Given the description of an element on the screen output the (x, y) to click on. 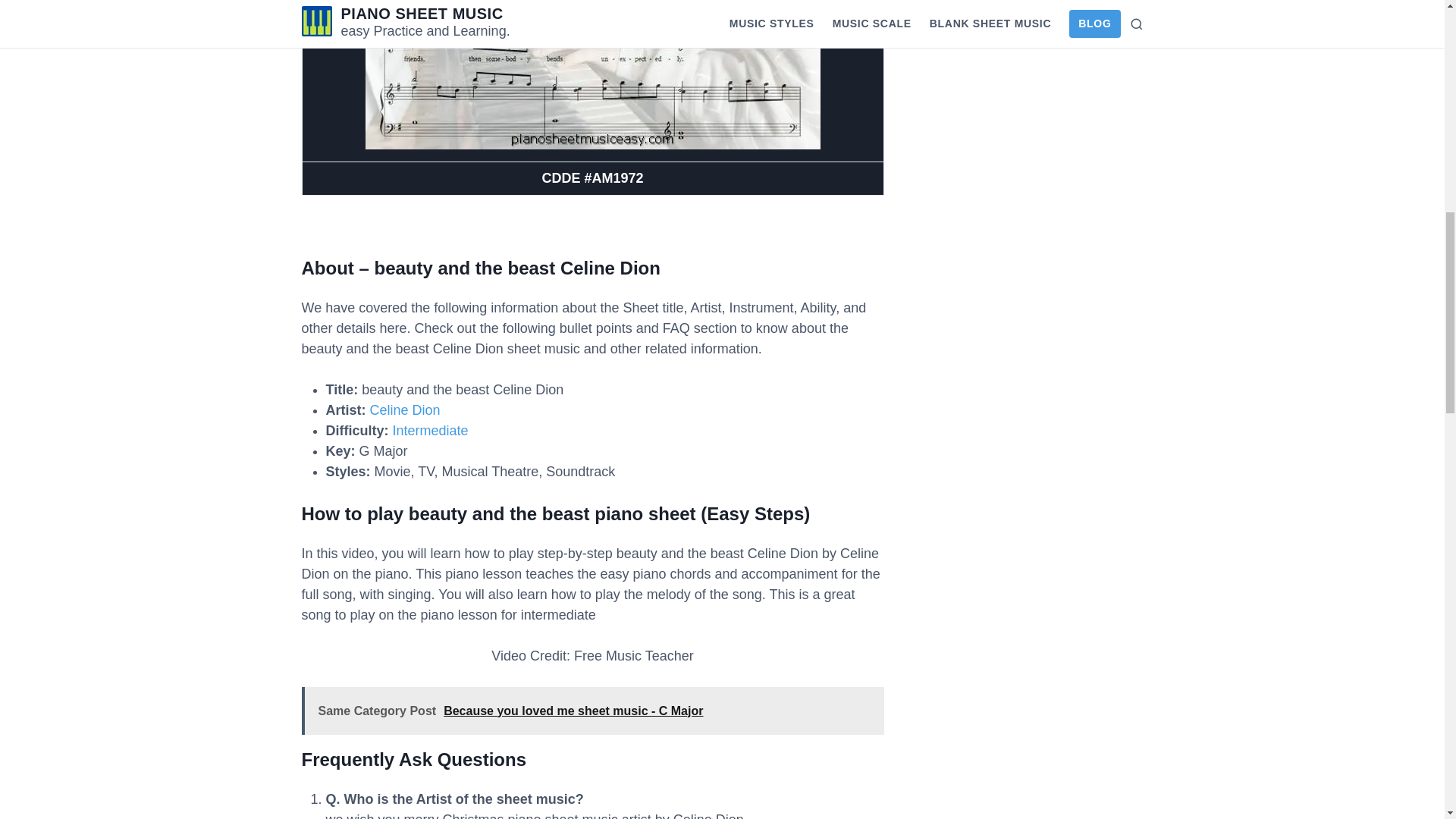
Celine Dion (405, 409)
Intermediate (430, 430)
